Given the description of an element on the screen output the (x, y) to click on. 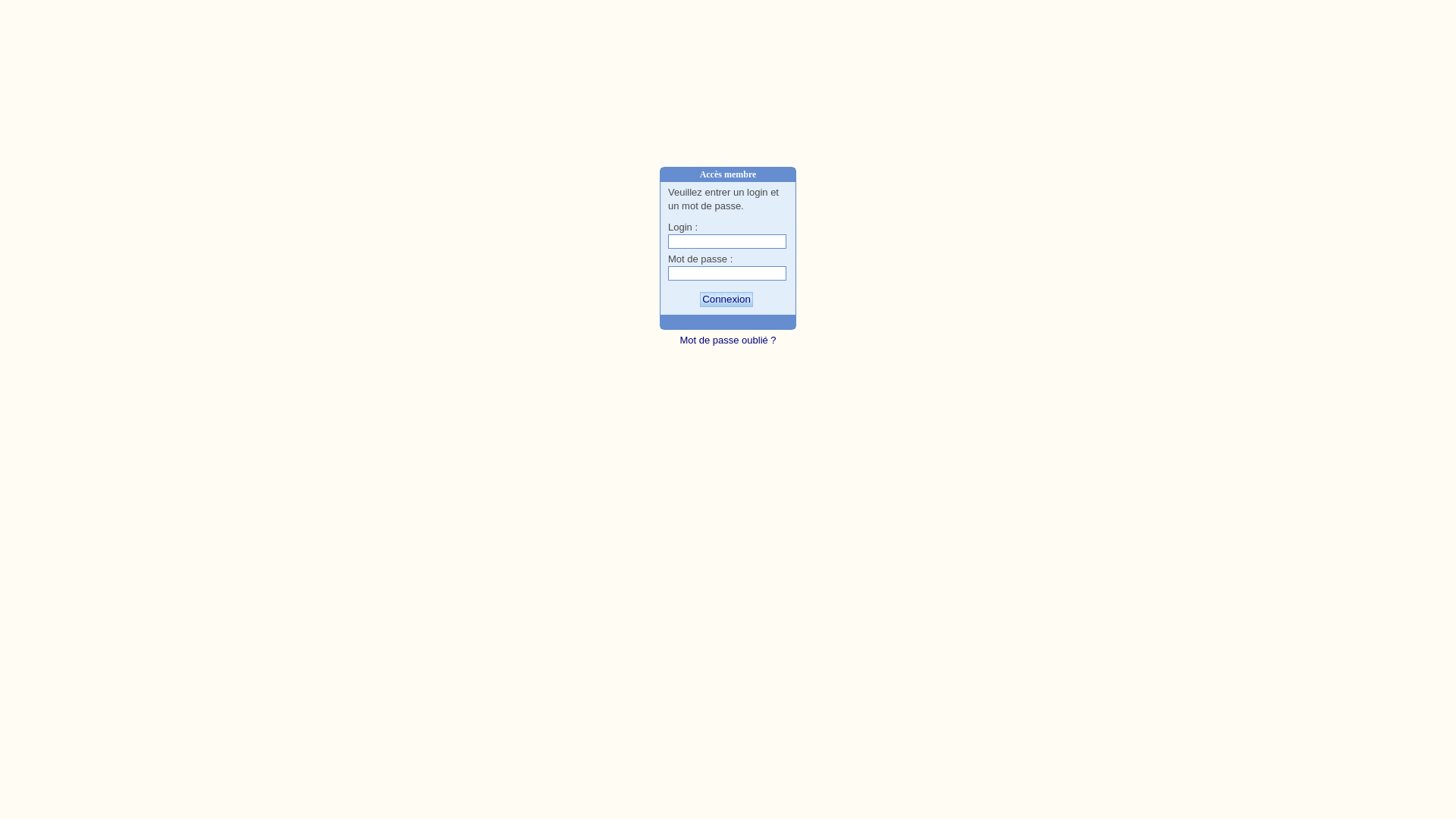
Connexion Element type: text (726, 299)
